Given the description of an element on the screen output the (x, y) to click on. 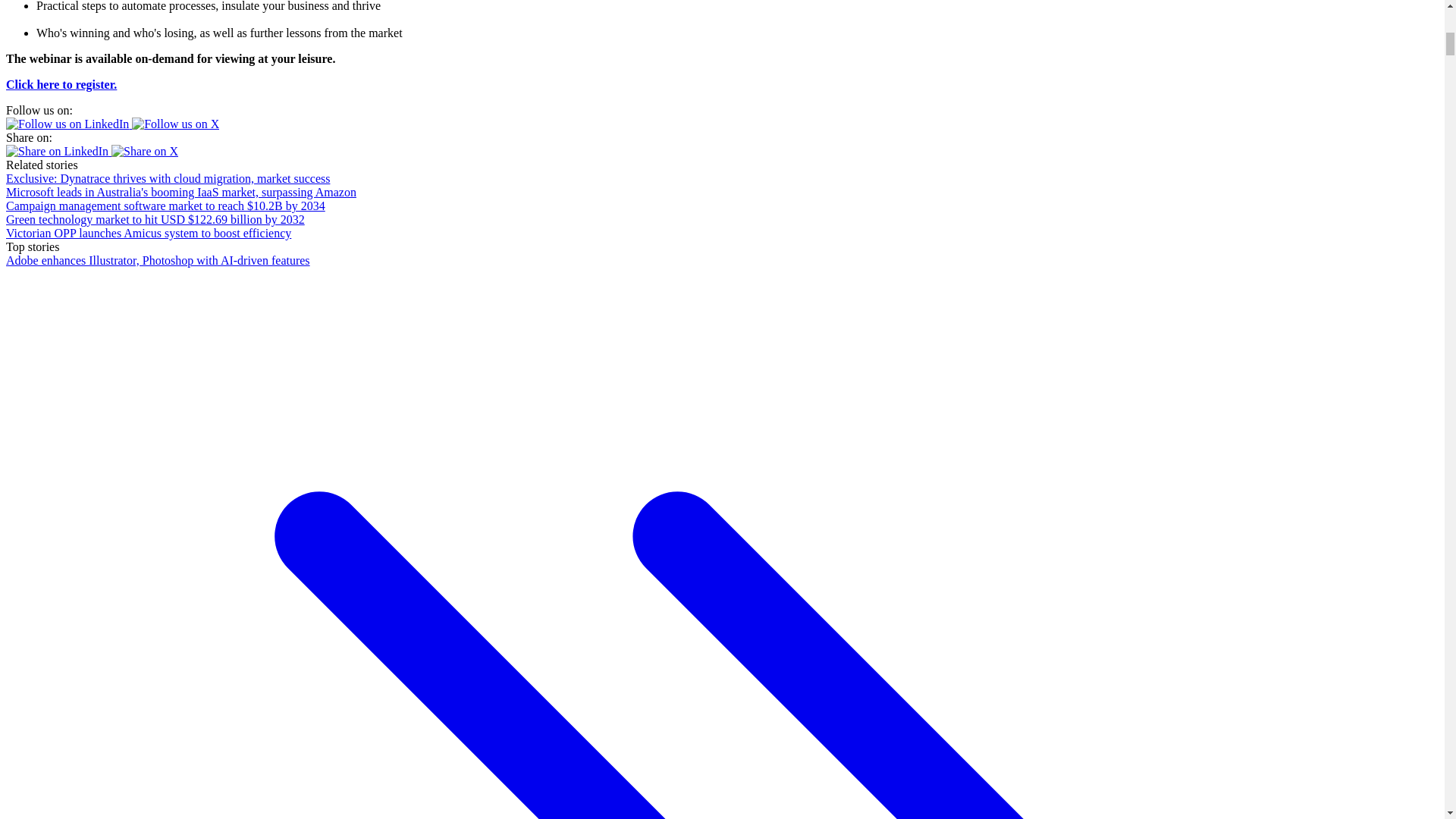
Click here to register. (60, 83)
